Given the description of an element on the screen output the (x, y) to click on. 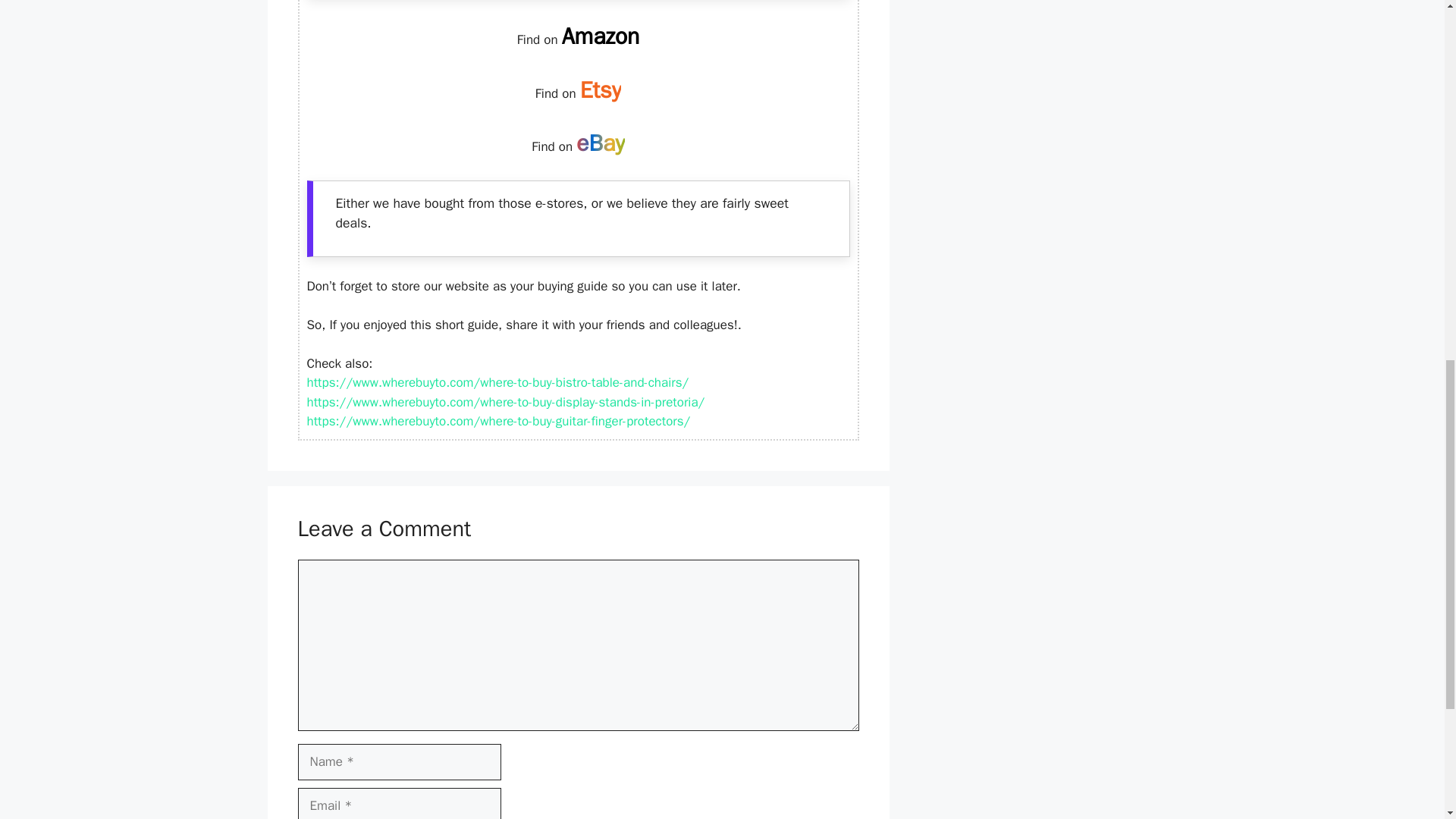
eBay (600, 143)
Amazon (600, 36)
Etsy (600, 90)
